Given the description of an element on the screen output the (x, y) to click on. 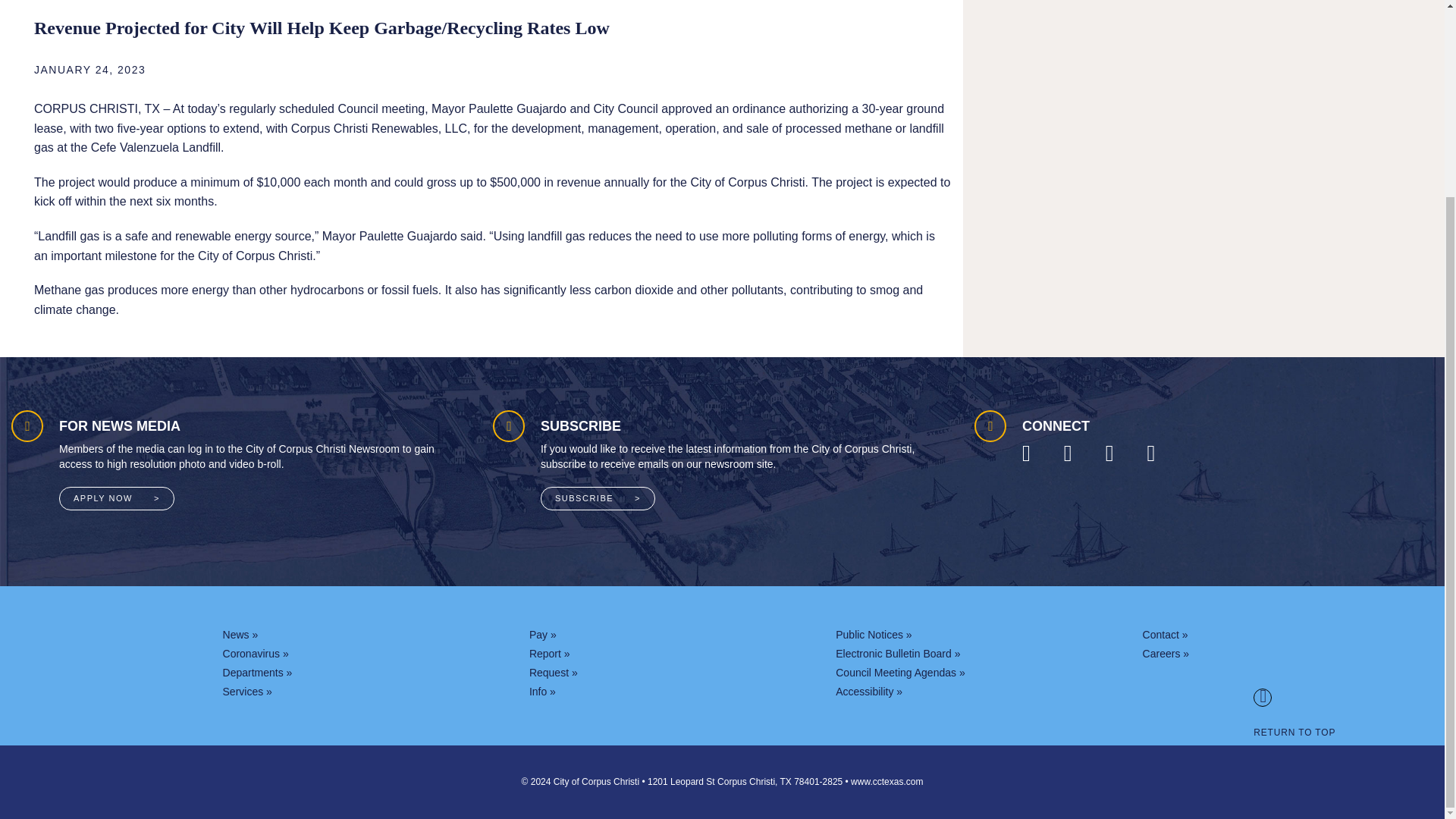
Council Meeting Agendas (899, 672)
Coronavirus (255, 653)
Public Notices (873, 634)
City Home (886, 781)
Info (542, 691)
Contact (1165, 634)
Request (553, 672)
Electronic Bulletin Board (897, 653)
Accessibility (868, 691)
News (240, 634)
Departments (257, 672)
APPLY NOW (116, 498)
SUBSCRIBE (597, 498)
www.cctexas.com (886, 781)
Pay (542, 634)
